Given the description of an element on the screen output the (x, y) to click on. 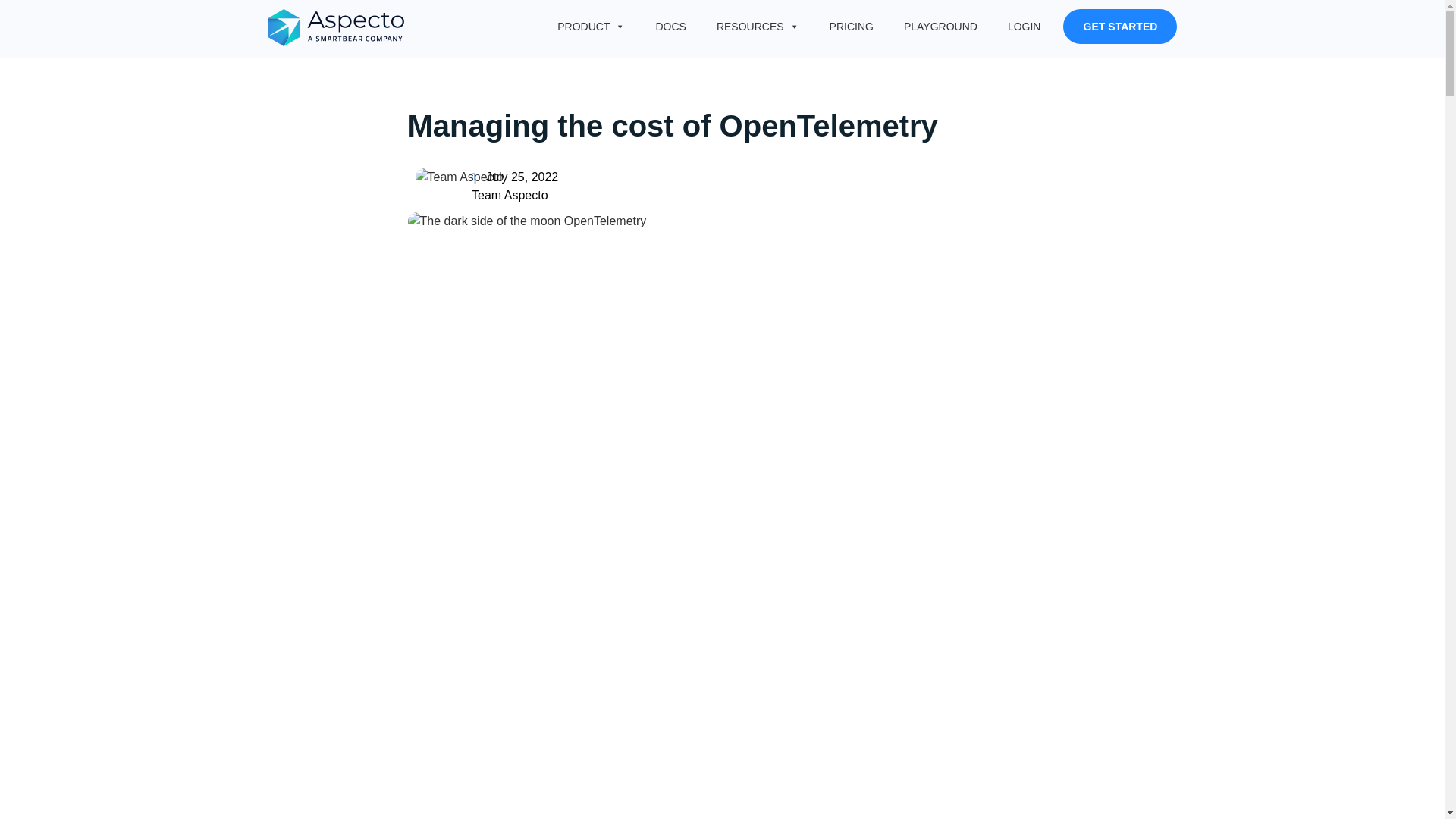
PRICING (851, 26)
LOGIN (1024, 26)
PLAYGROUND (940, 26)
RESOURCES (757, 26)
DOCS (670, 26)
GET STARTED (1119, 26)
PRODUCT (590, 26)
